Given the description of an element on the screen output the (x, y) to click on. 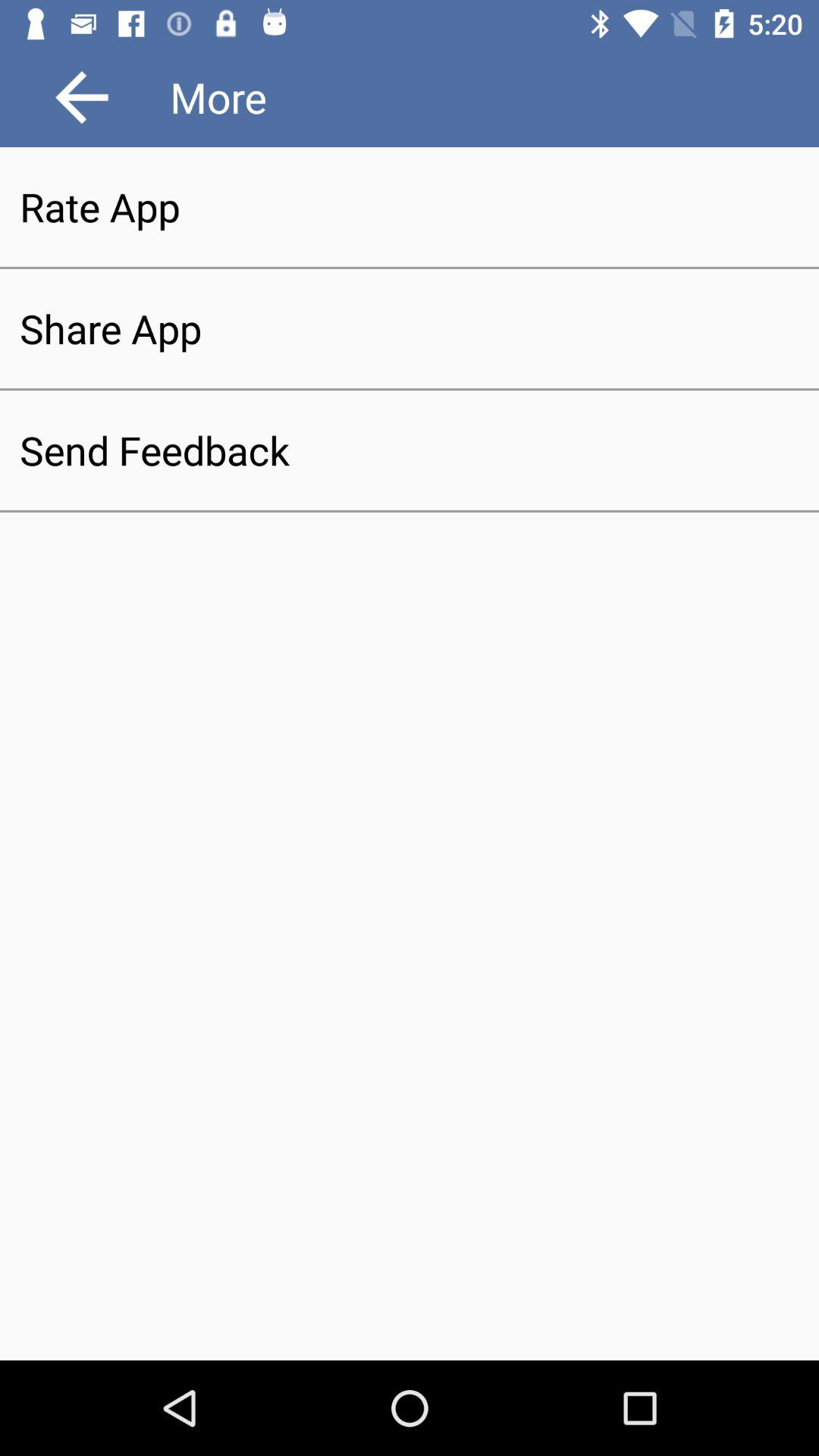
tap send feedback app (409, 450)
